Given the description of an element on the screen output the (x, y) to click on. 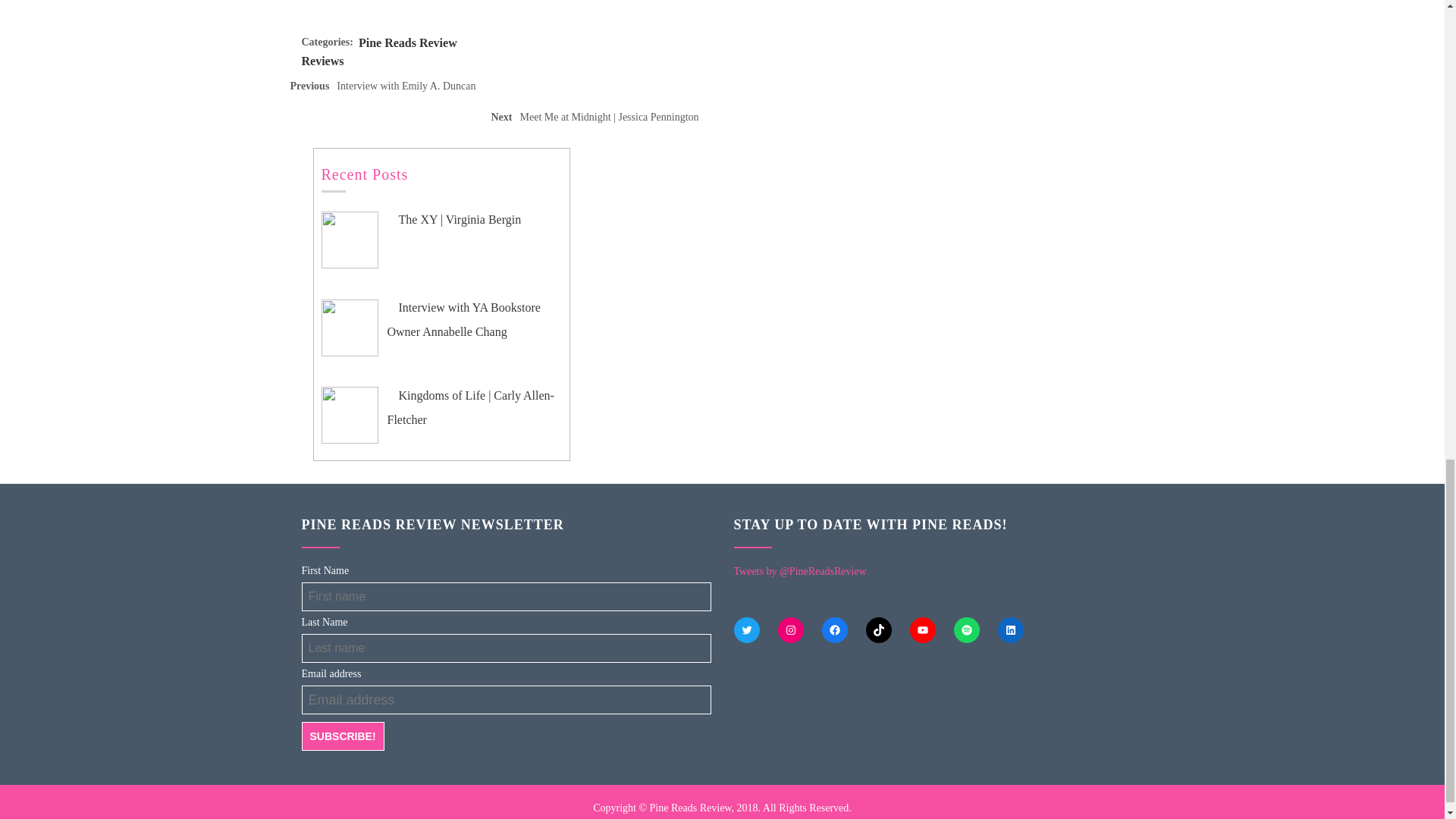
Reviews (322, 60)
Subscribe! (386, 89)
Subscribe! (342, 736)
Interview with YA Bookstore Owner Annabelle Chang (342, 736)
Pine Reads Review (463, 319)
